Given the description of an element on the screen output the (x, y) to click on. 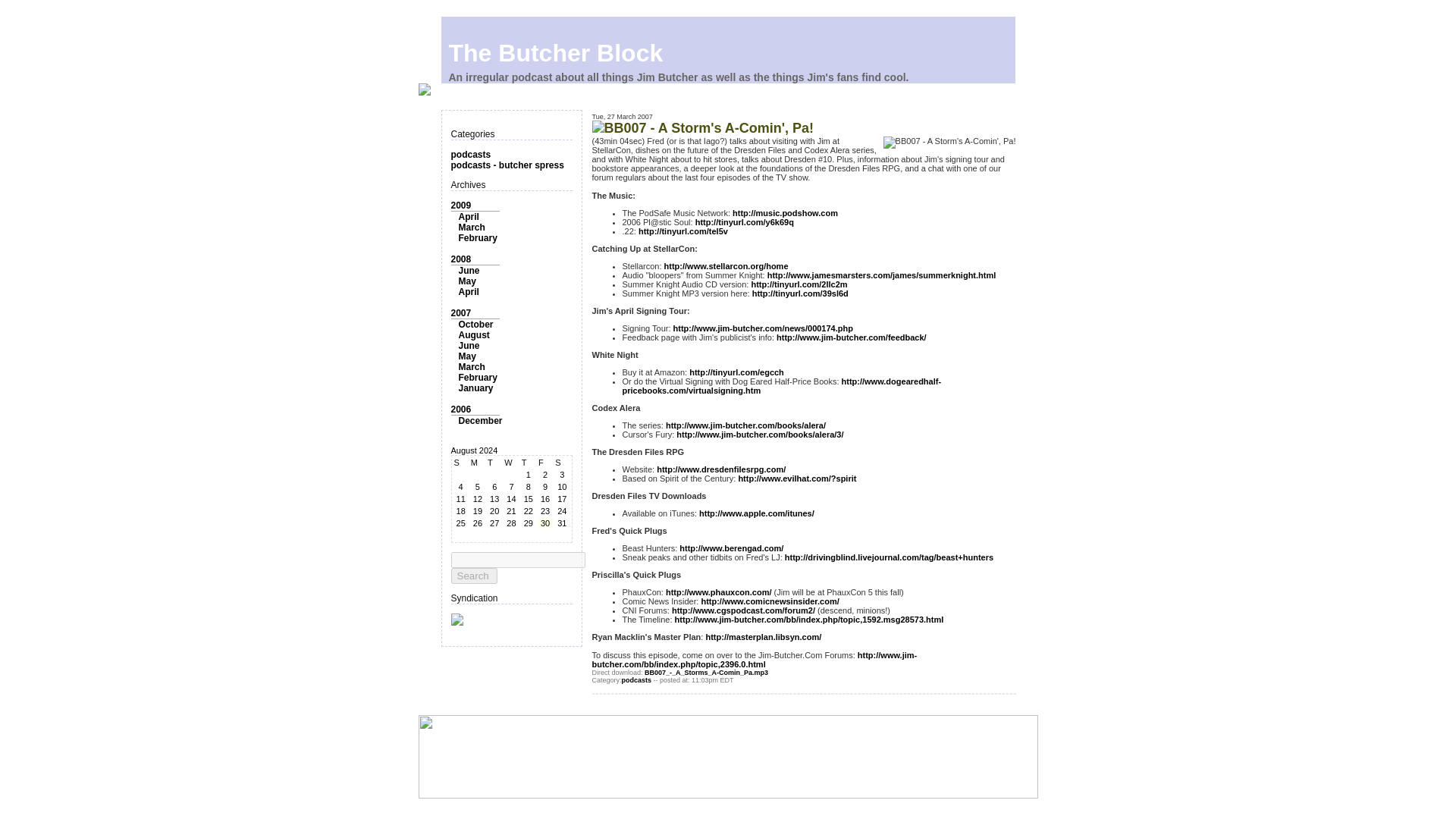
April (468, 291)
Search  (473, 575)
August (473, 335)
2008 (459, 258)
Saturday (561, 462)
Sunday (460, 462)
Monday (477, 462)
June (468, 270)
BB007 - A Storm's A-Comin', Pa! (708, 127)
December (480, 420)
